Given the description of an element on the screen output the (x, y) to click on. 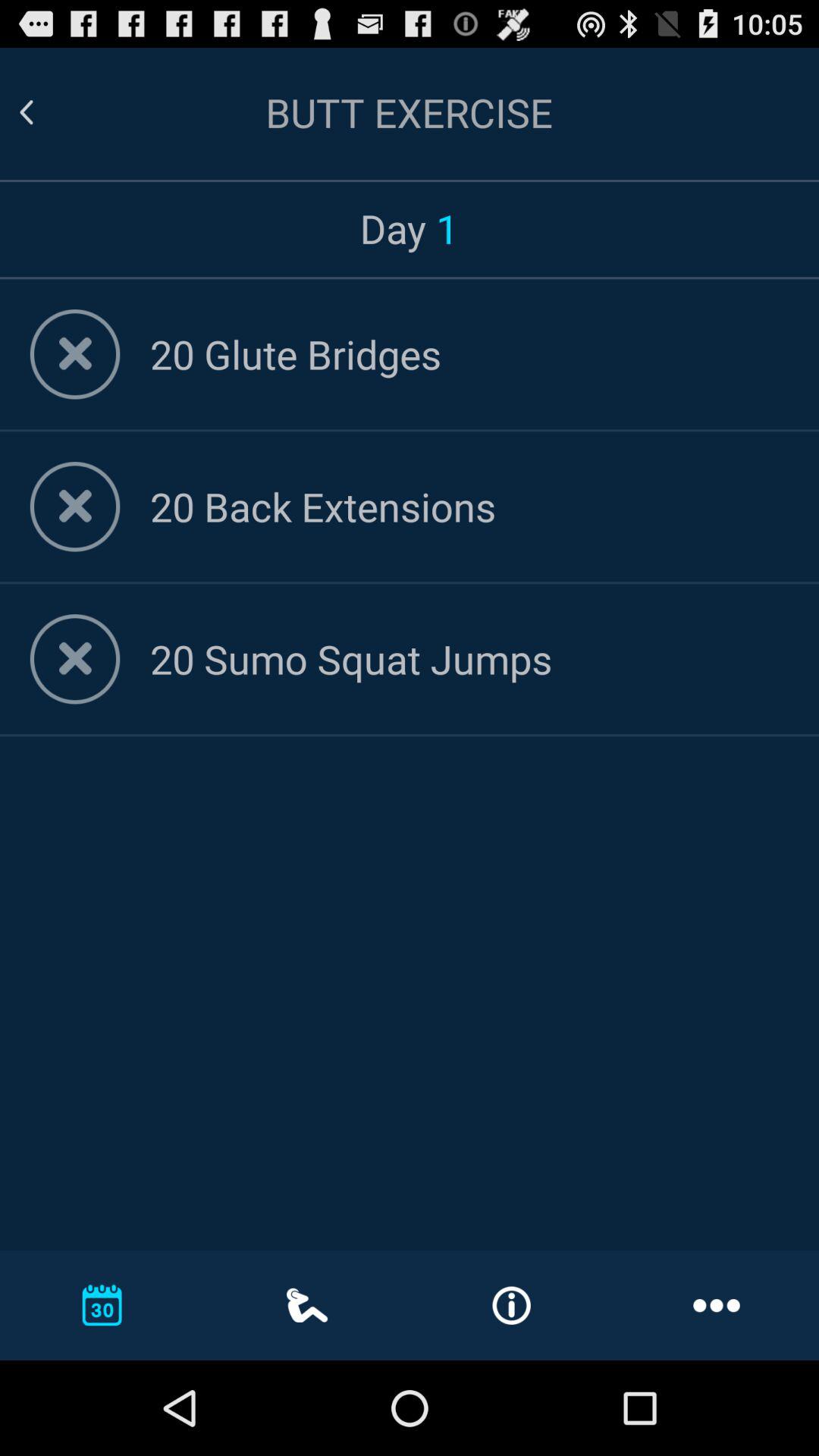
flip to 20 glute bridges item (469, 353)
